Given the description of an element on the screen output the (x, y) to click on. 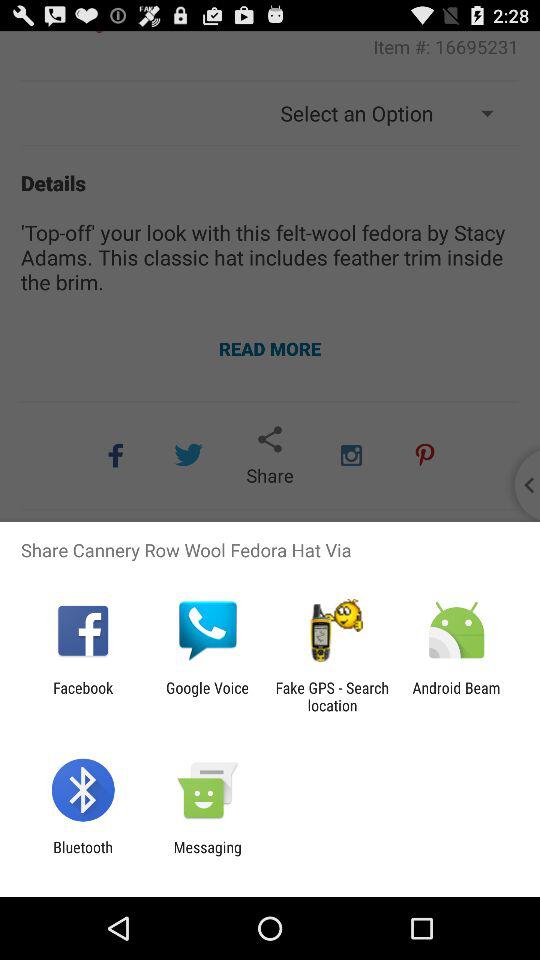
choose the icon next to fake gps search app (456, 696)
